Given the description of an element on the screen output the (x, y) to click on. 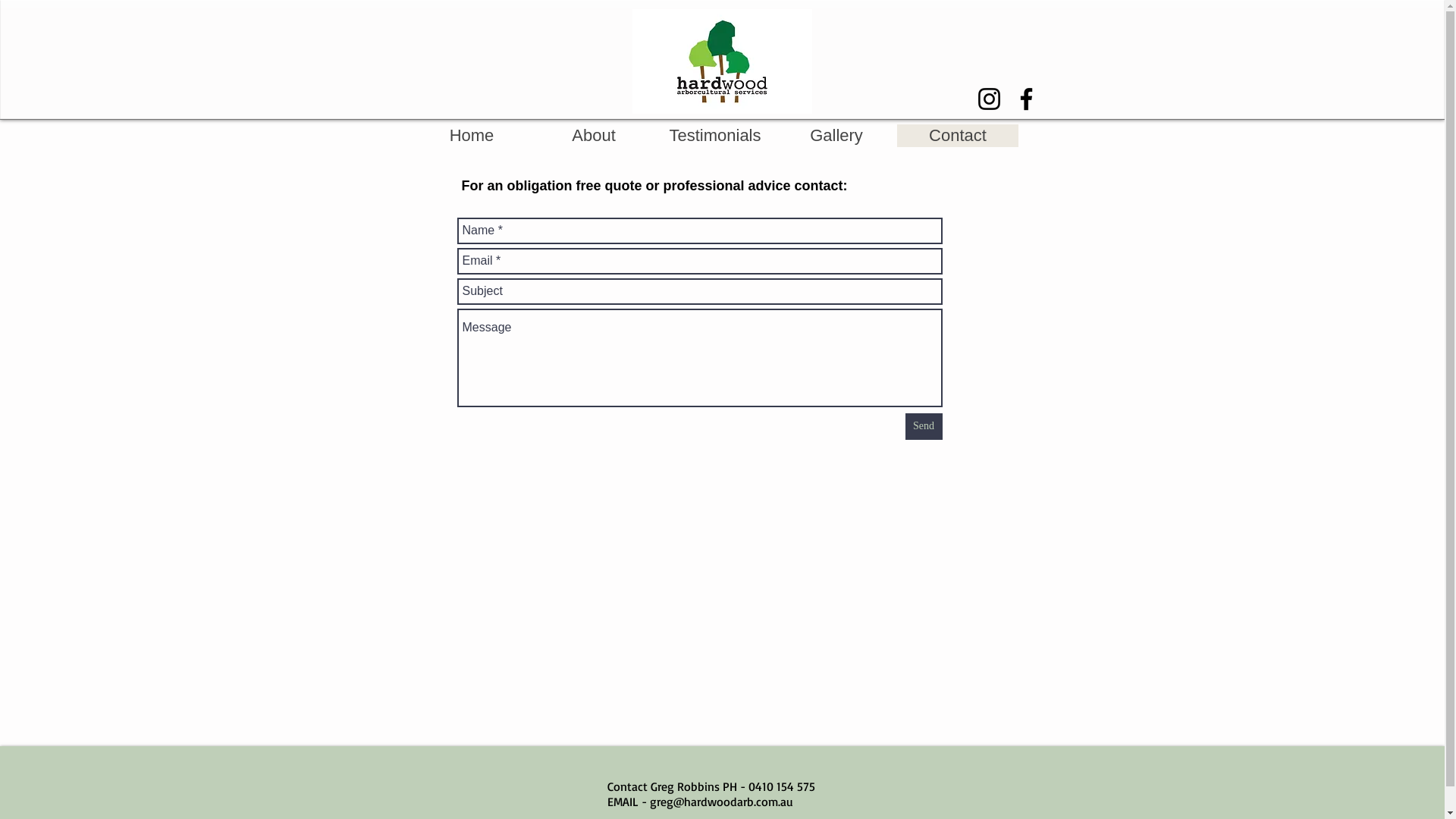
greg@hardwoodarb.com.au Element type: text (720, 801)
Gallery Element type: text (835, 135)
Home Element type: text (472, 135)
About Element type: text (592, 135)
Send Element type: text (923, 426)
Contact Element type: text (956, 135)
Testimonials Element type: text (714, 135)
finallogo copy 3.jpg Element type: hover (722, 61)
